Given the description of an element on the screen output the (x, y) to click on. 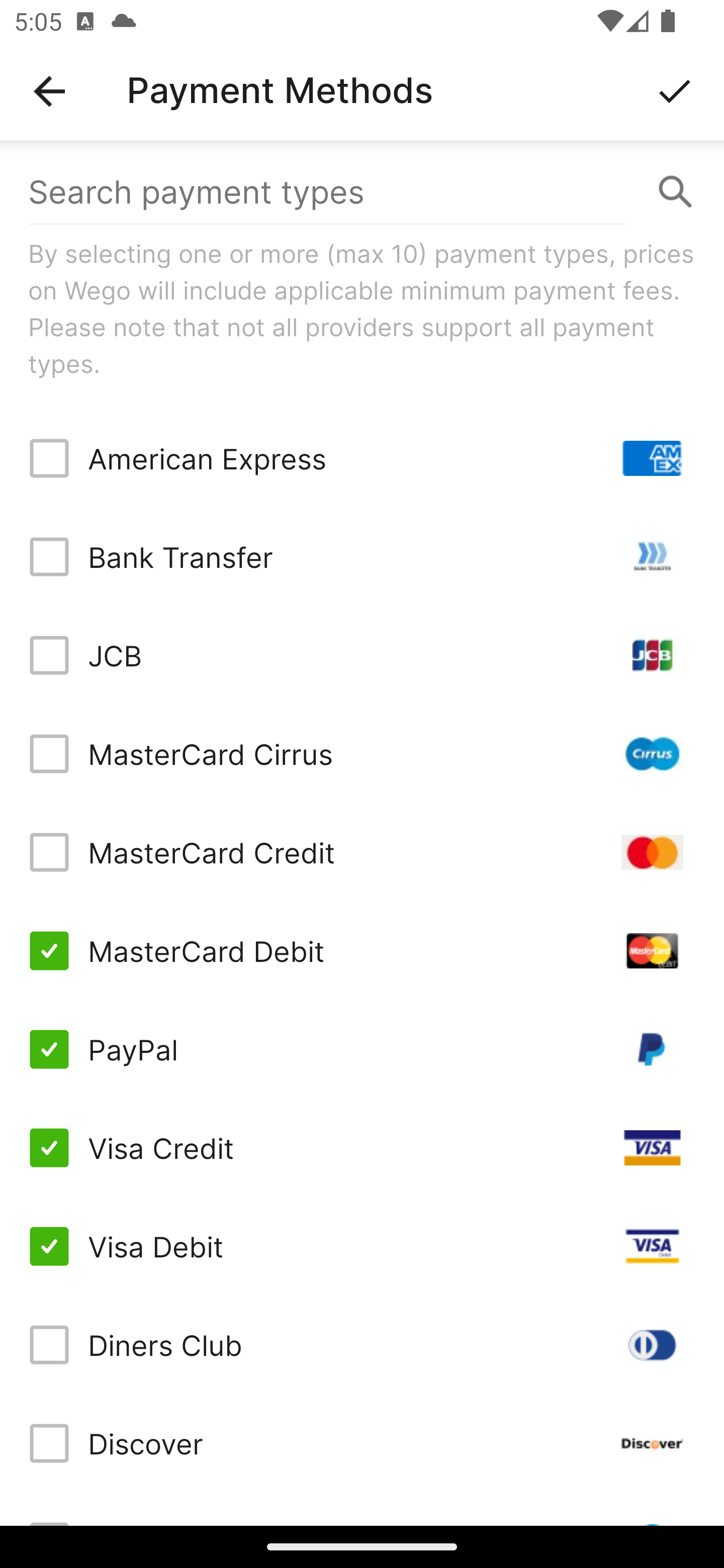
Search payment types  (361, 191)
American Express (362, 458)
Bank Transfer (362, 557)
JCB (362, 655)
MasterCard Cirrus (362, 753)
MasterCard Credit (362, 851)
MasterCard Debit (362, 950)
PayPal (362, 1049)
Visa Credit (362, 1147)
Visa Debit (362, 1245)
Diners Club (362, 1344)
Discover (362, 1442)
